Given the description of an element on the screen output the (x, y) to click on. 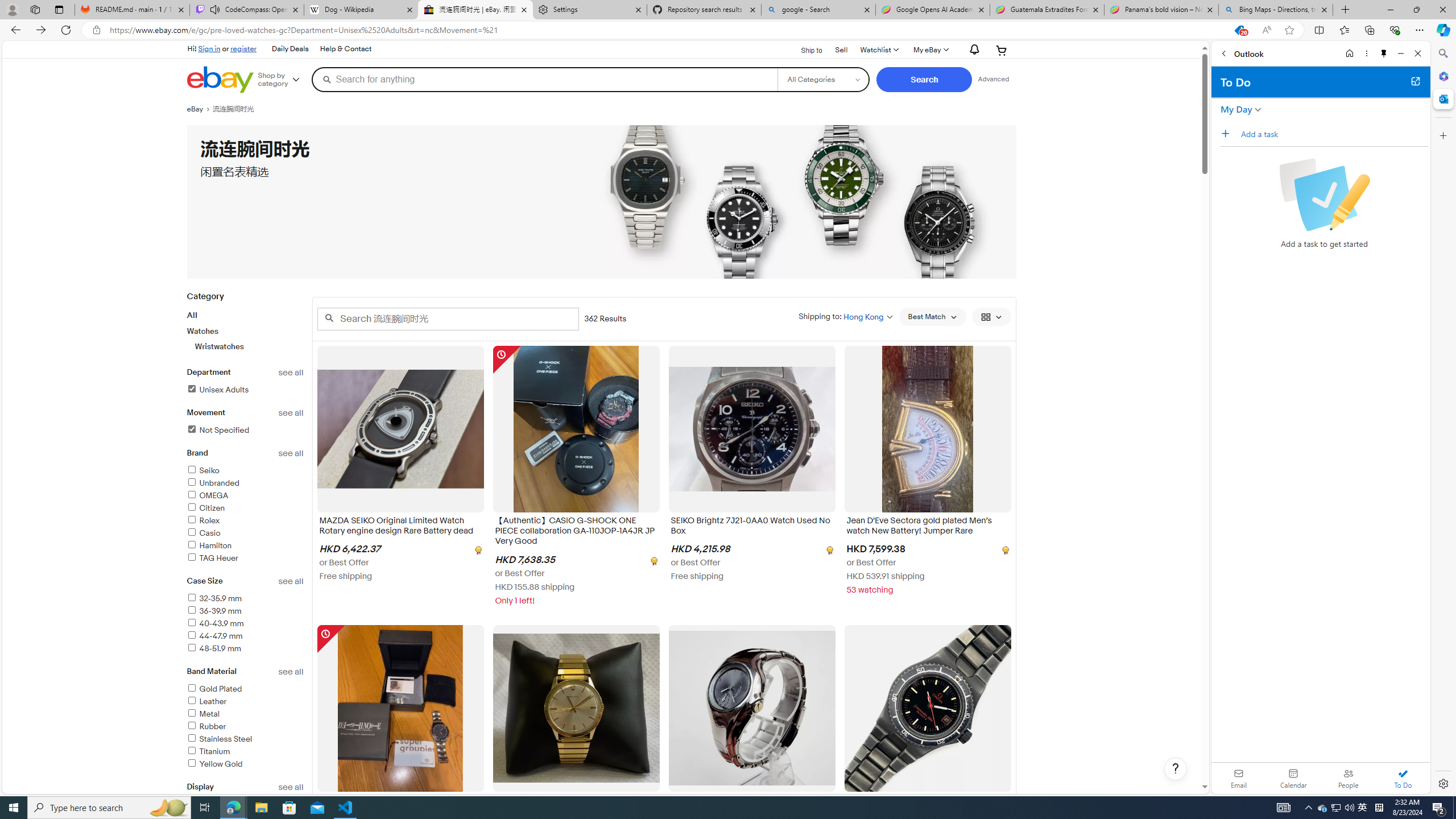
44-47.9 mm (214, 636)
Daily Deals (290, 49)
AutomationID: gh-eb-Alerts (972, 49)
Leather (245, 701)
Help & Contact (345, 49)
Gold Plated (245, 689)
This site has coupons! Shopping in Microsoft Edge, 20 (1239, 29)
TAG Heuer (245, 558)
See all band material refinements (291, 671)
My eBay (930, 49)
